Given the description of an element on the screen output the (x, y) to click on. 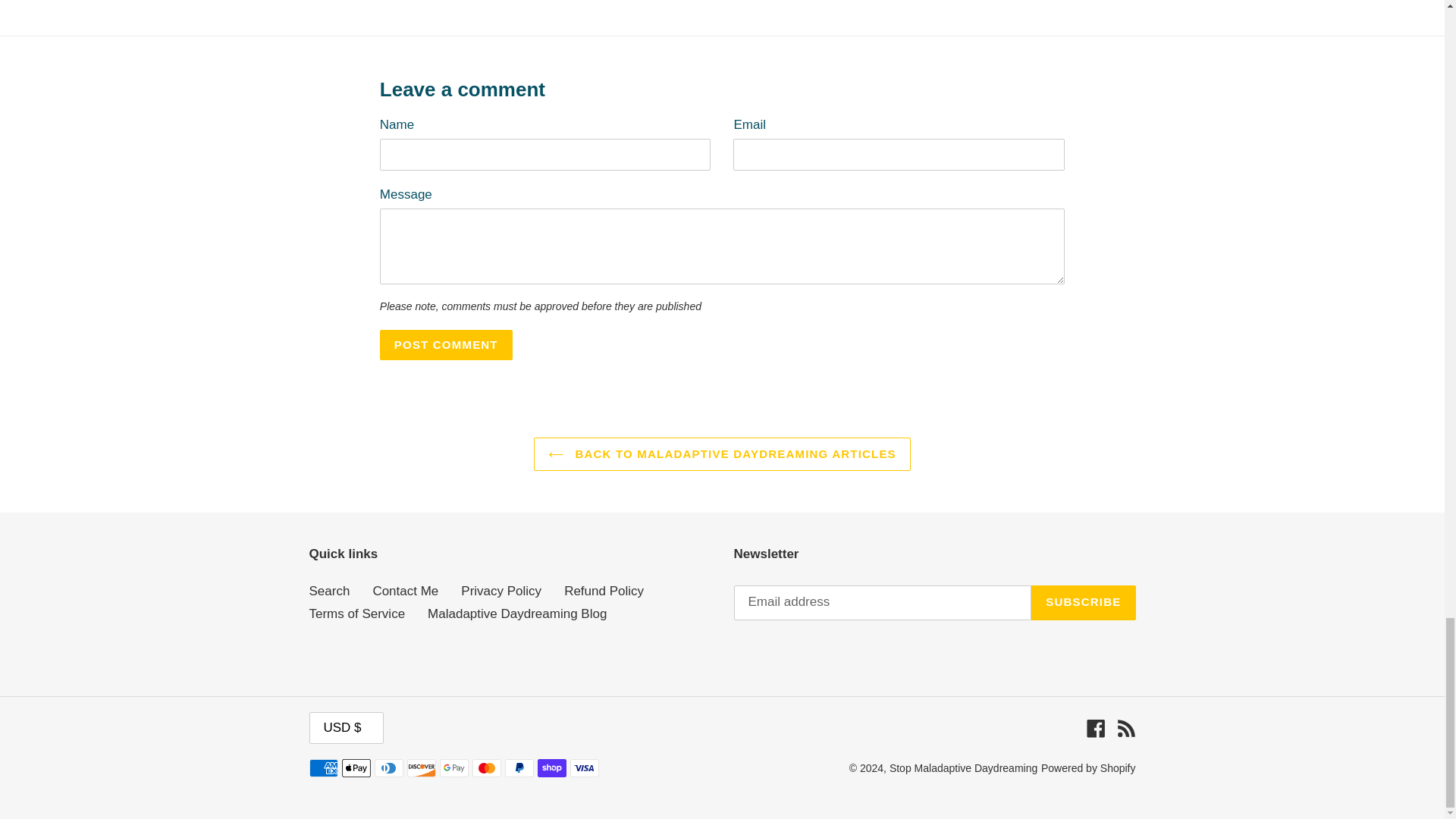
Refund Policy (603, 590)
Privacy Policy (501, 590)
Search (329, 590)
Post comment (446, 345)
Terms of Service (357, 613)
Post comment (446, 345)
Maladaptive Daydreaming Blog (517, 613)
SUBSCRIBE (1082, 602)
Contact Me (405, 590)
BACK TO MALADAPTIVE DAYDREAMING ARTICLES (722, 454)
